Given the description of an element on the screen output the (x, y) to click on. 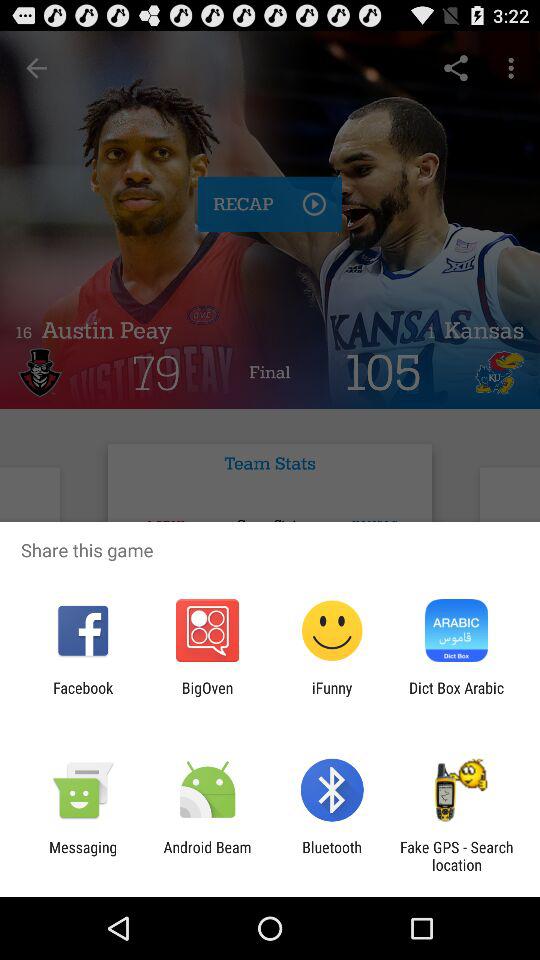
click the app next to the ifunny item (207, 696)
